Given the description of an element on the screen output the (x, y) to click on. 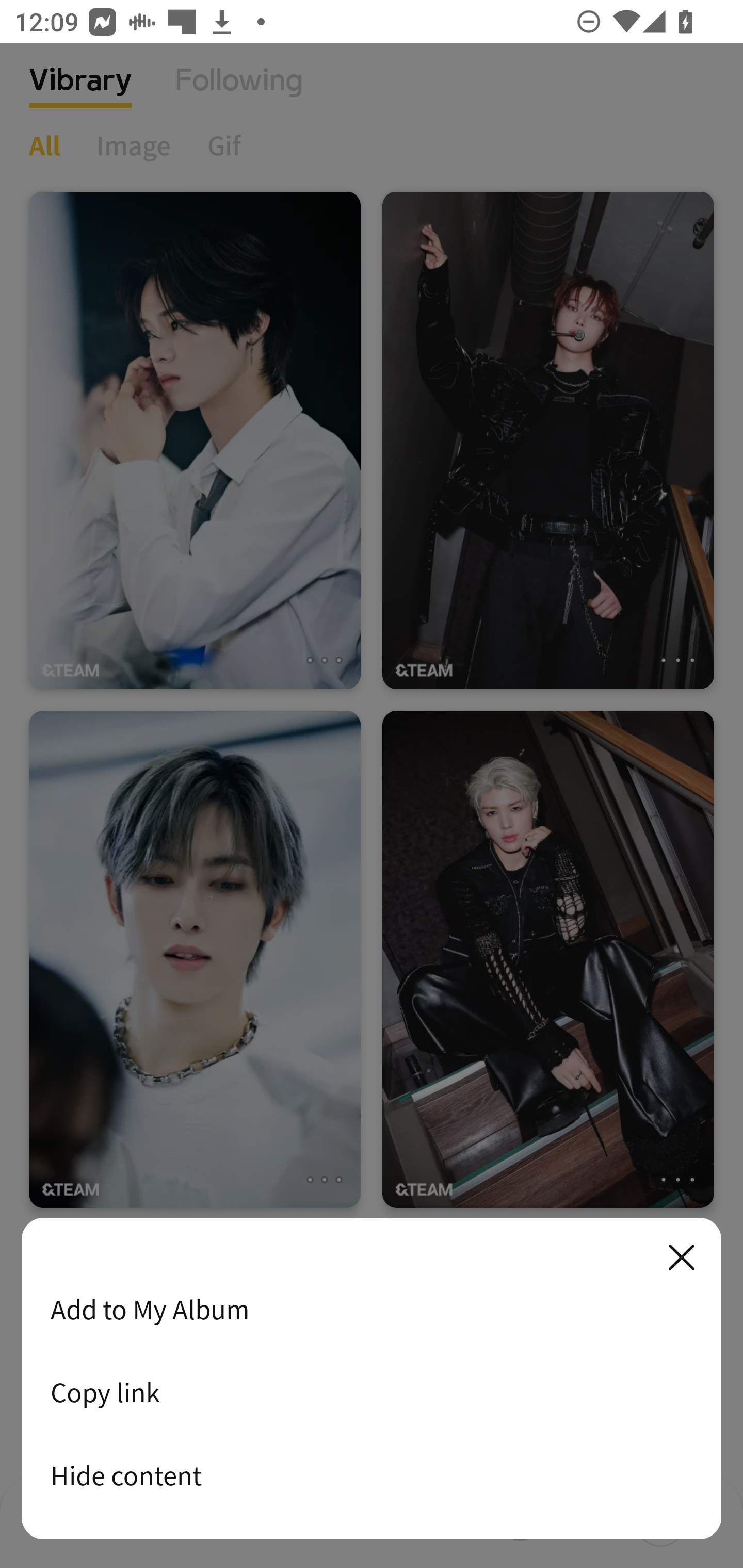
Add to My Album Copy link Hide content (371, 1378)
Add to My Album (371, 1308)
Copy link (371, 1391)
Hide content (371, 1474)
